Given the description of an element on the screen output the (x, y) to click on. 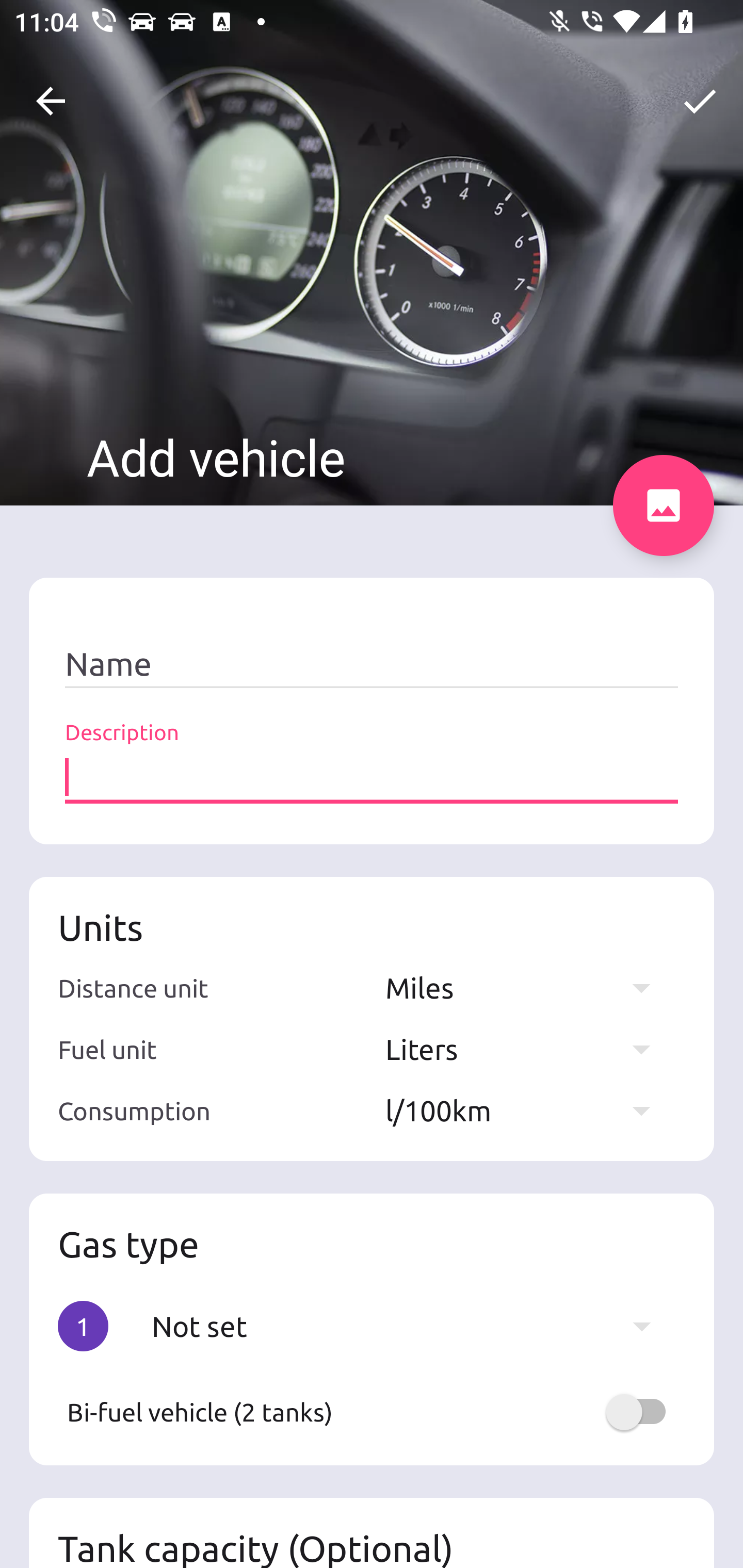
Navigate up (50, 101)
OK (699, 101)
Name (371, 664)
Description (371, 777)
Miles (527, 987)
Liters (527, 1048)
l/100km (527, 1110)
Not set (411, 1325)
Bi-fuel vehicle (2 tanks) (371, 1411)
